Given the description of an element on the screen output the (x, y) to click on. 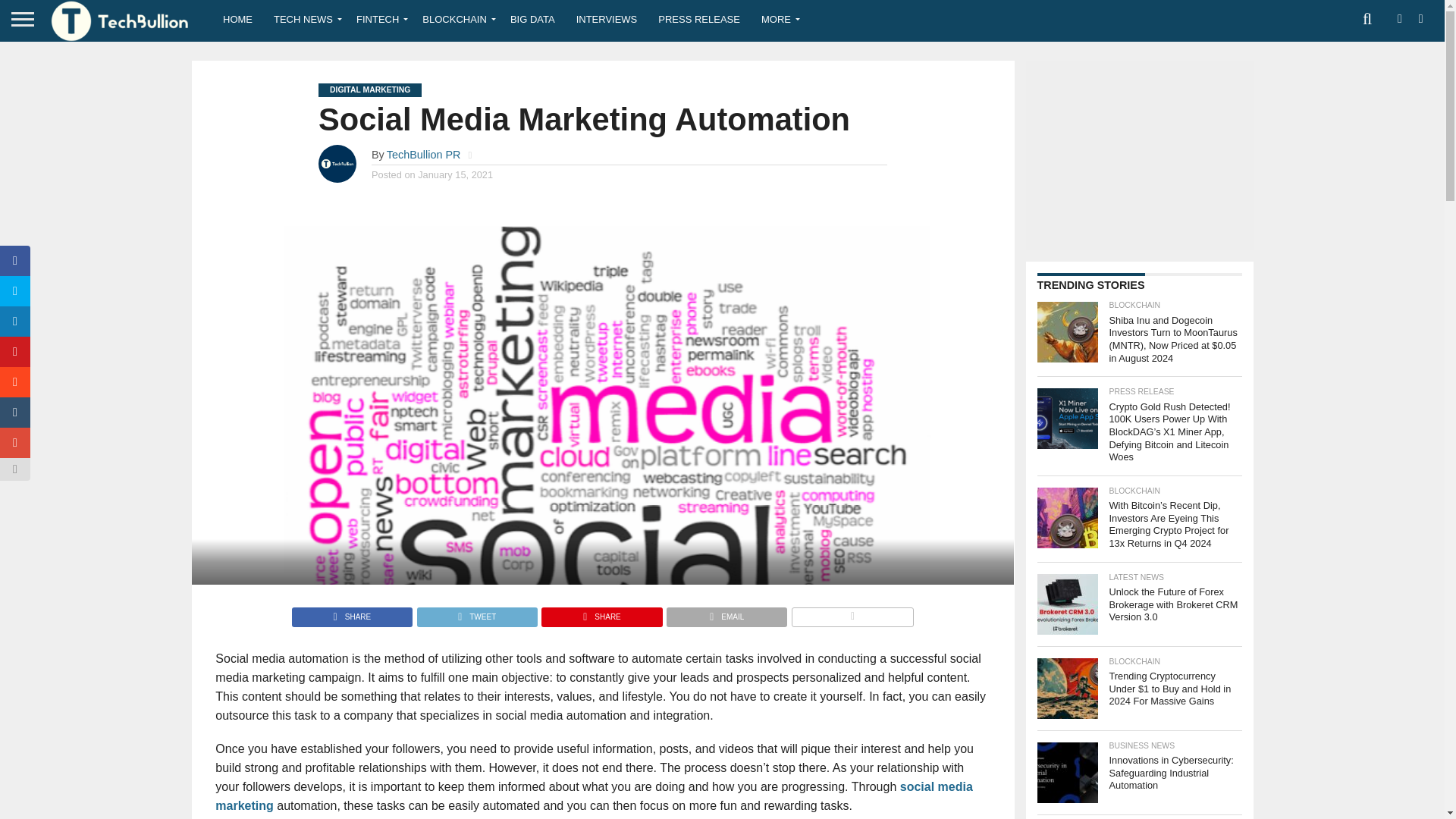
Share on Facebook (352, 612)
Tweet This Post (476, 612)
Posts by TechBullion PR (424, 154)
Pin This Post (601, 612)
